Given the description of an element on the screen output the (x, y) to click on. 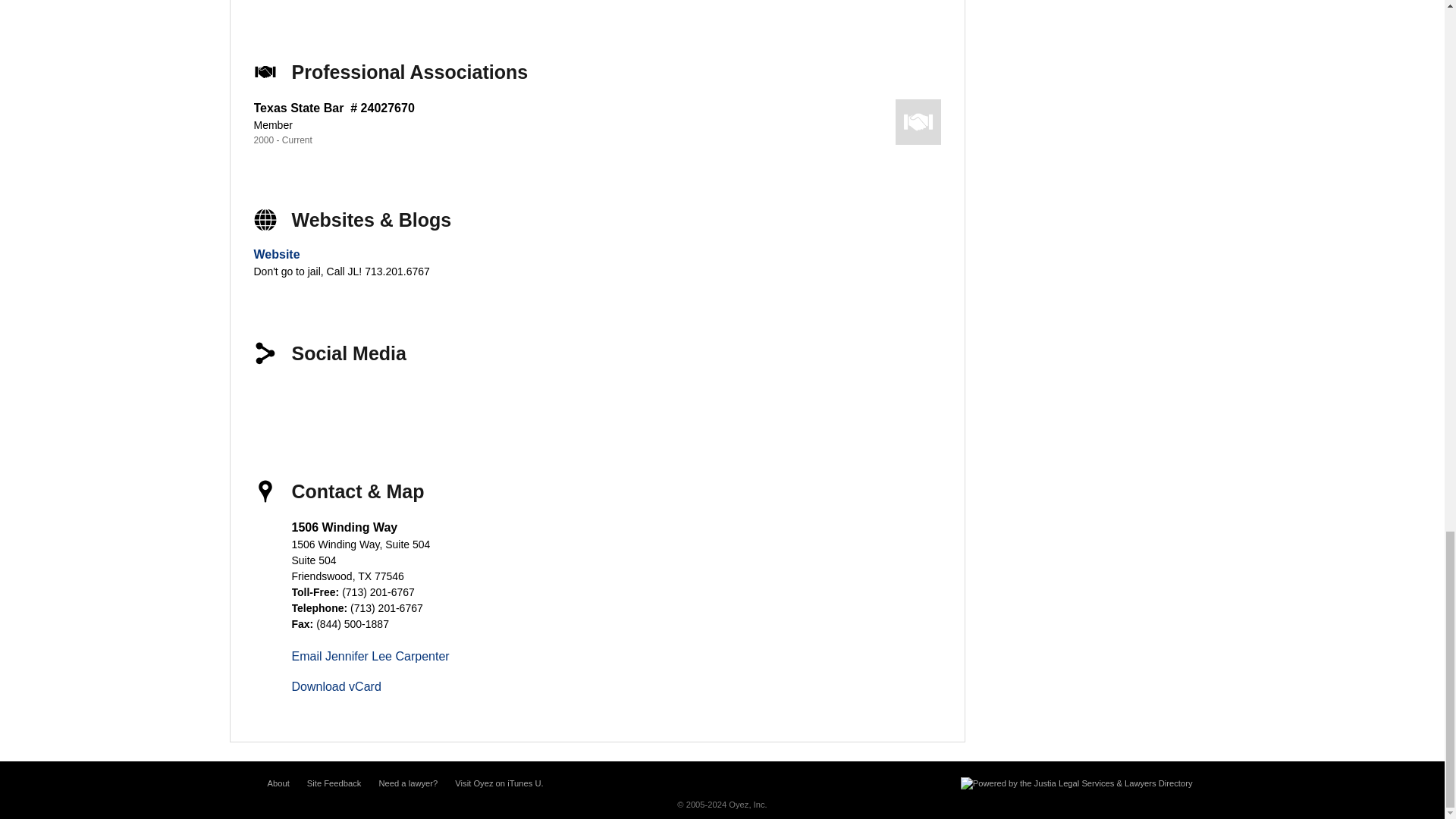
LinkedIn (381, 402)
Justia Profile (435, 402)
 Justia Profile (435, 402)
Facebook (275, 402)
Website (276, 254)
Jennifer Lee Carpenter on Facebook (275, 402)
Email Jennifer Lee Carpenter (369, 656)
Jennifer Lee Carpenter's Avvo Profile (488, 402)
X (328, 402)
Download vCard (335, 686)
Jennifer Lee Carpenter on LinkedIn (381, 402)
Jennifer Lee Carpenter's Avvo Profile (488, 402)
